Given the description of an element on the screen output the (x, y) to click on. 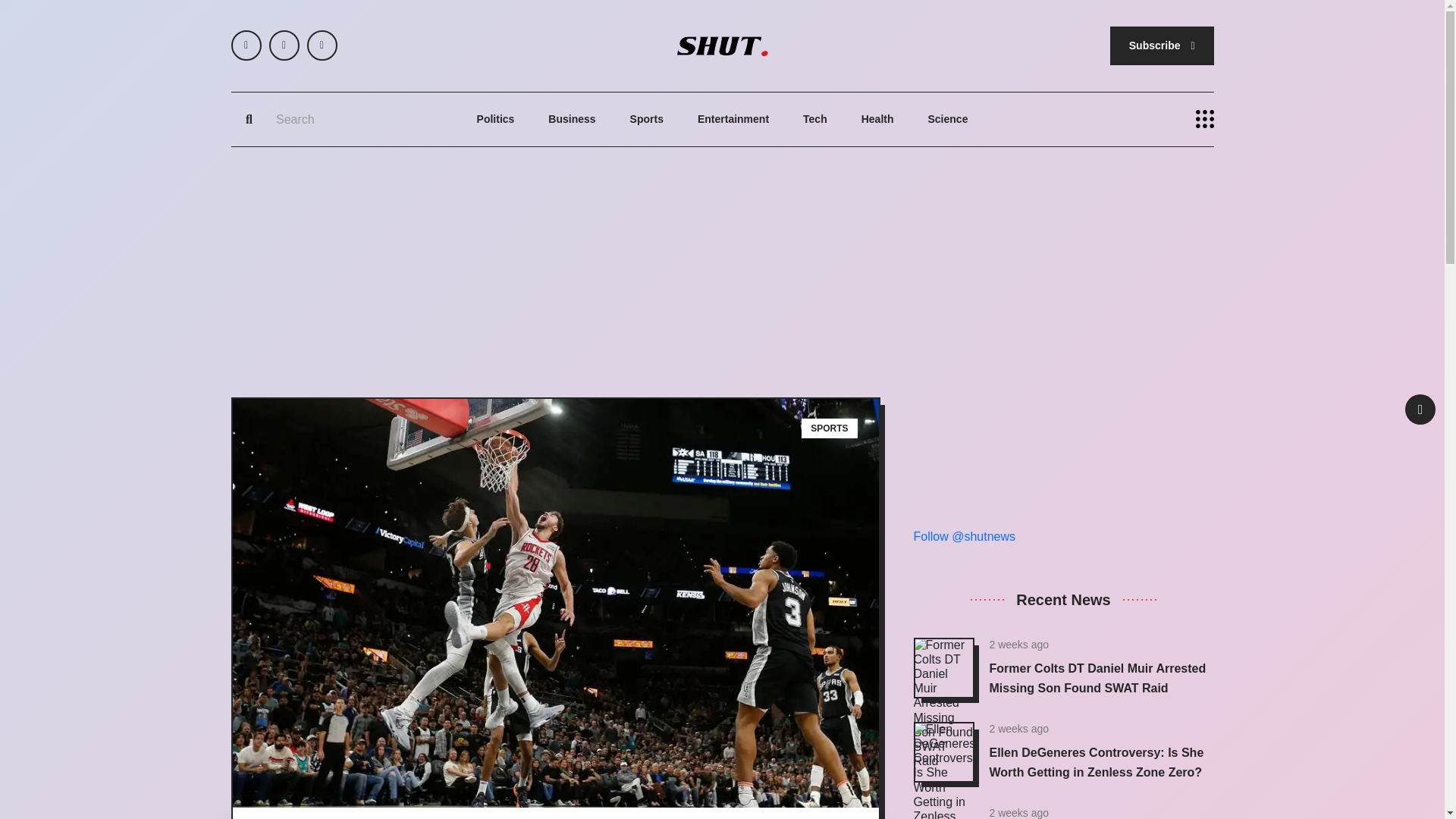
Subscribe (1161, 45)
SPORTS (829, 428)
Entertainment (732, 119)
